Given the description of an element on the screen output the (x, y) to click on. 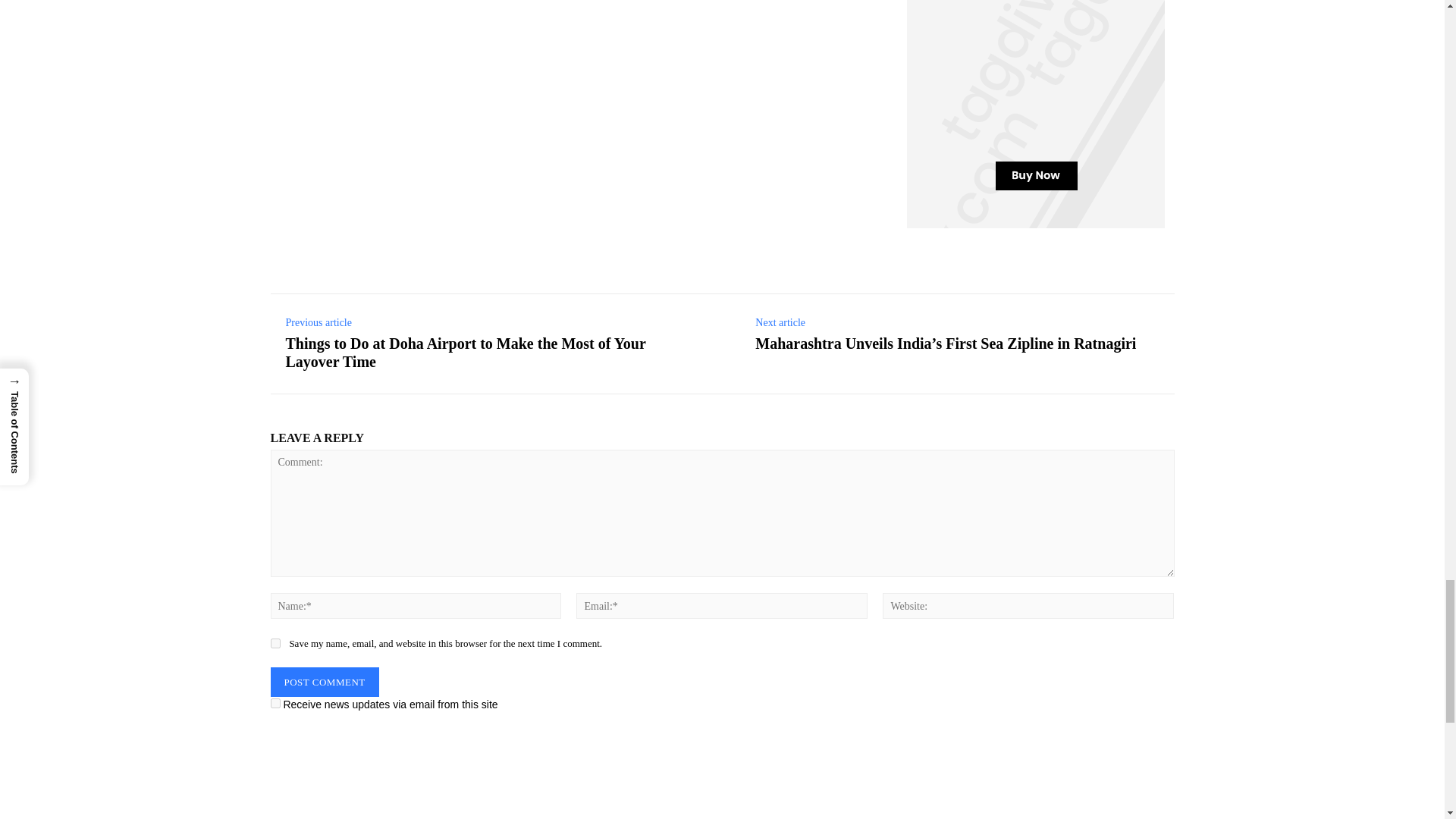
yes (274, 643)
Post Comment (323, 681)
1 (274, 703)
